Given the description of an element on the screen output the (x, y) to click on. 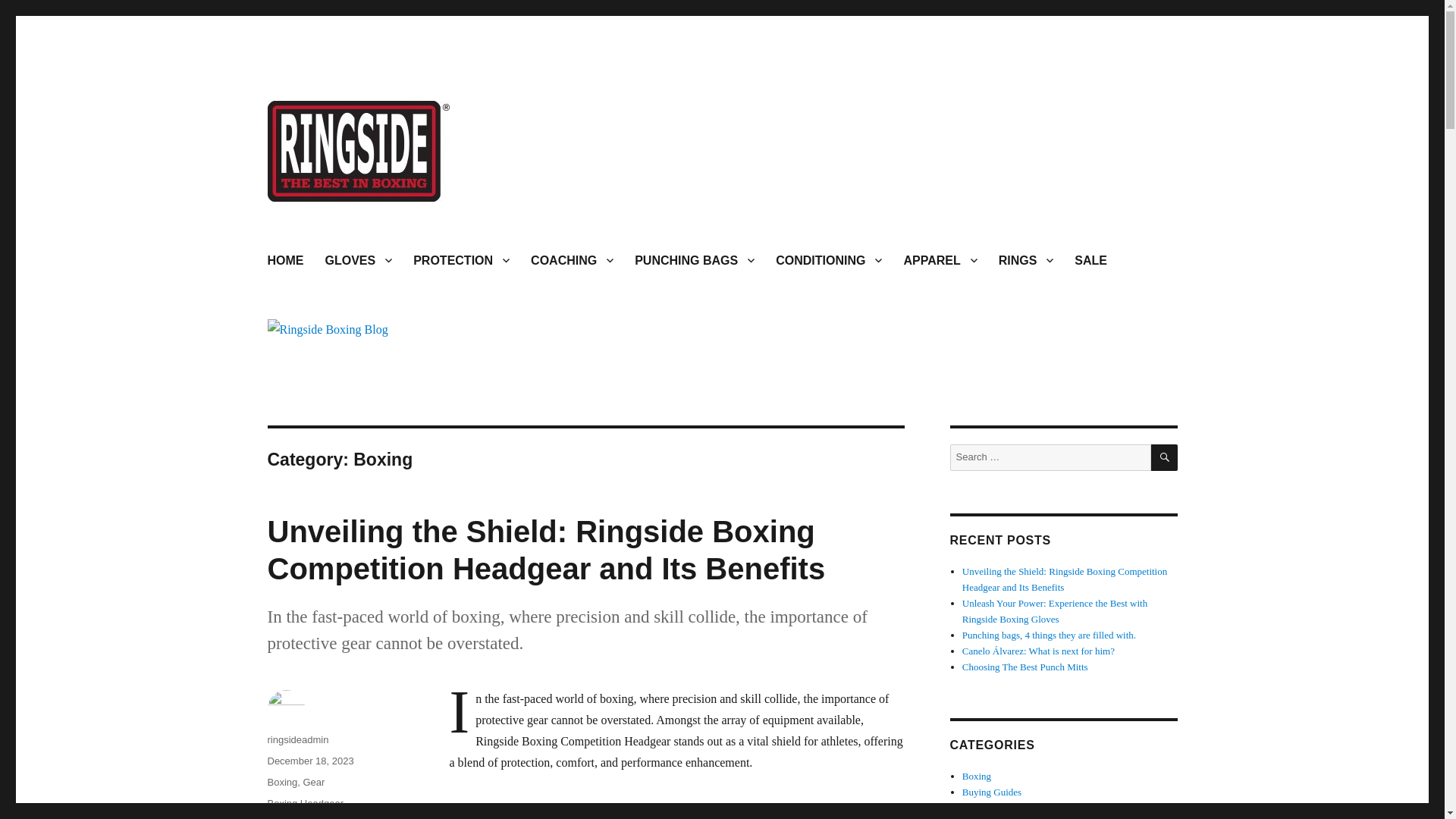
CONDITIONING (828, 260)
COACHING (571, 260)
PUNCHING BAGS (694, 260)
GLOVES (358, 260)
HOME (285, 260)
PROTECTION (461, 260)
Ringside Boxing Blog (376, 225)
